Given the description of an element on the screen output the (x, y) to click on. 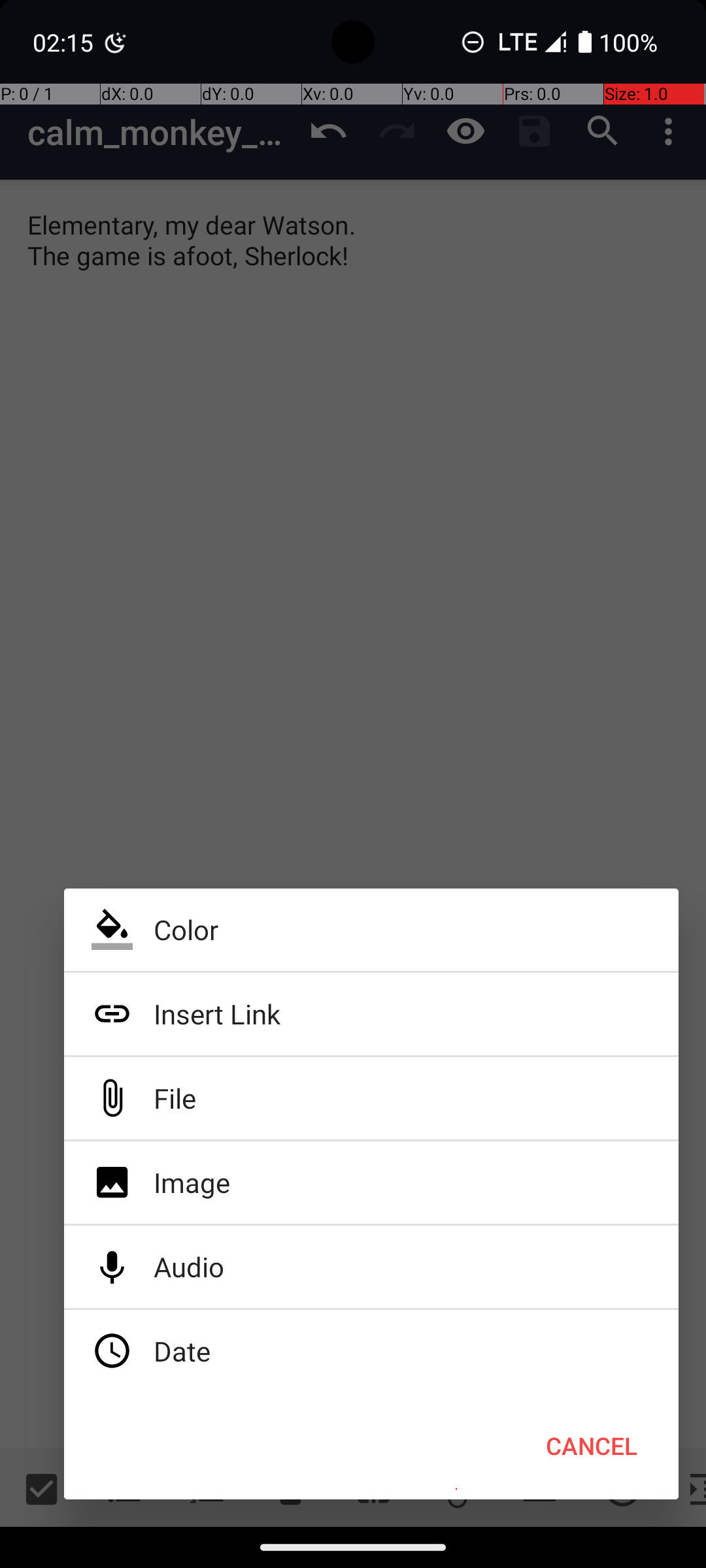
02:15 Element type: android.widget.TextView (64, 41)
Digital Wellbeing notification: Bedtime mode is on Element type: android.widget.ImageView (115, 41)
